Given the description of an element on the screen output the (x, y) to click on. 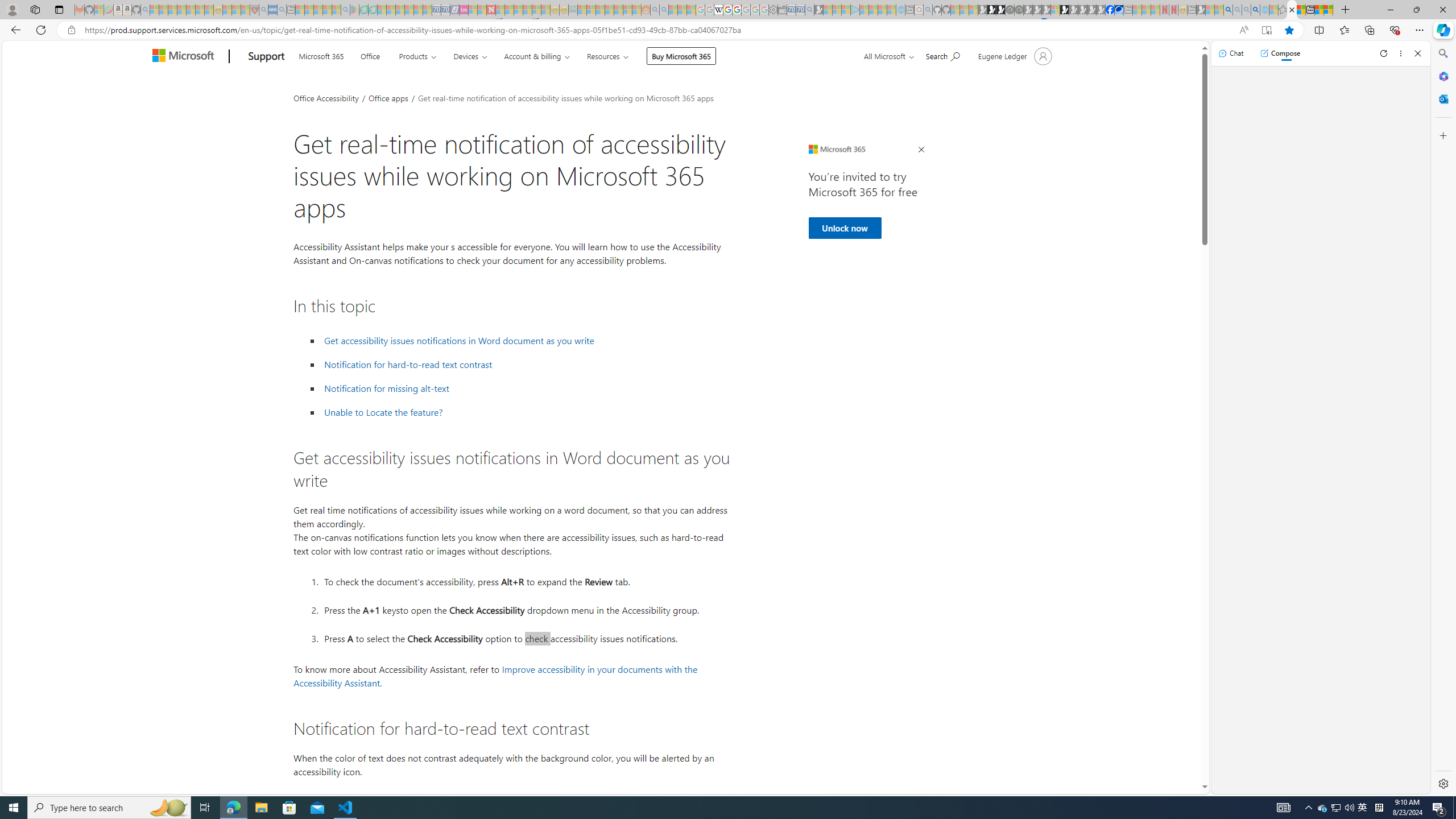
Sign in to your account - Sleeping (1054, 9)
Unlock now (844, 228)
Support (266, 56)
Target page - Wikipedia (718, 9)
Notification for hard-to-read text contrast (525, 364)
